Given the description of an element on the screen output the (x, y) to click on. 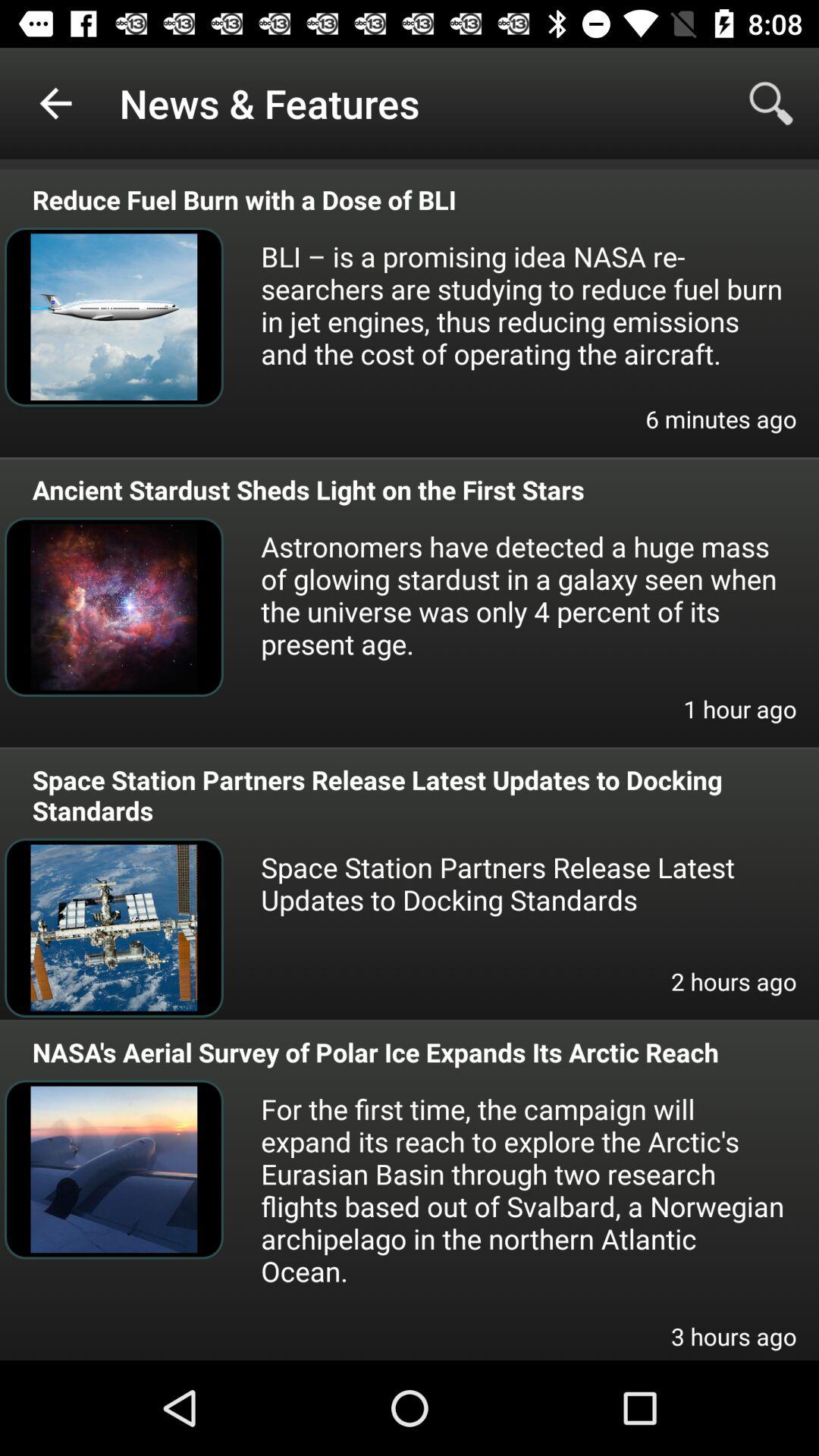
tap the item below the bli is a (720, 428)
